Given the description of an element on the screen output the (x, y) to click on. 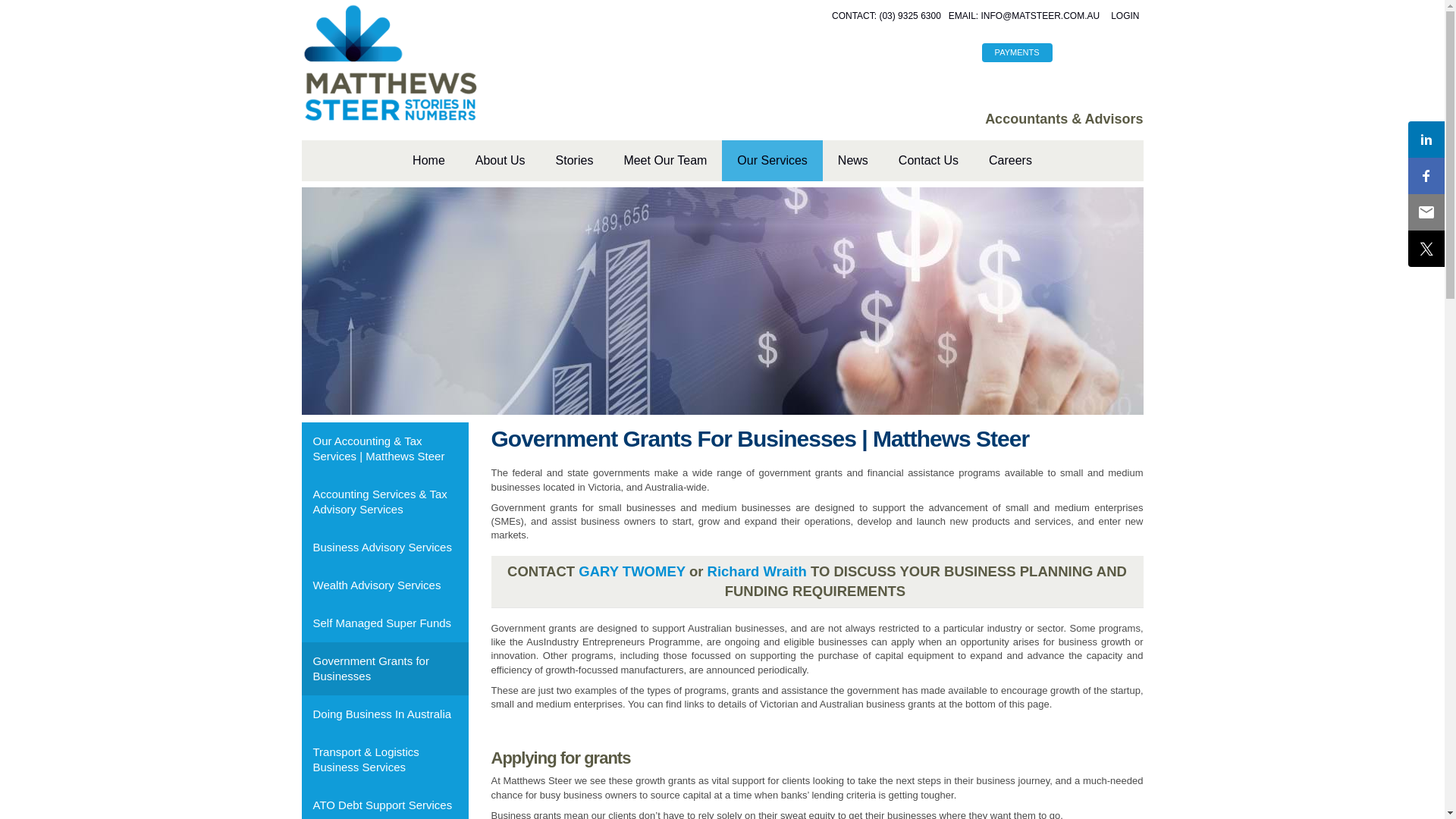
Doing Business In Australia Element type: text (384, 714)
LOGIN Element type: text (1124, 15)
PAYMENTS Element type: text (1017, 52)
Linkedin Element type: text (1098, 52)
(03) 9325 6300 Element type: text (909, 15)
Stories Element type: text (574, 160)
Contact Us Element type: text (928, 160)
Self Managed Super Funds Element type: text (384, 623)
Wealth Advisory Services Element type: text (384, 585)
GARY TWOMEY Element type: text (631, 571)
Business Advisory Services Element type: text (384, 547)
Our Accounting & Tax Services | Matthews Steer Element type: text (384, 448)
Transport & Logistics Business Services Element type: text (384, 759)
Instagram Element type: text (1126, 52)
Home Element type: text (428, 160)
Meet Our Team Element type: text (664, 160)
Youtube Element type: text (1069, 52)
Richard Wraith Element type: text (756, 571)
Careers Element type: text (1010, 160)
Government Grants for Businesses Element type: text (384, 668)
About Us Element type: text (500, 160)
Our Services Element type: text (771, 160)
INFO@MATSTEER.COM.AU Element type: text (1040, 15)
Accounting Services & Tax Advisory Services Element type: text (384, 501)
News Element type: text (852, 160)
